Given the description of an element on the screen output the (x, y) to click on. 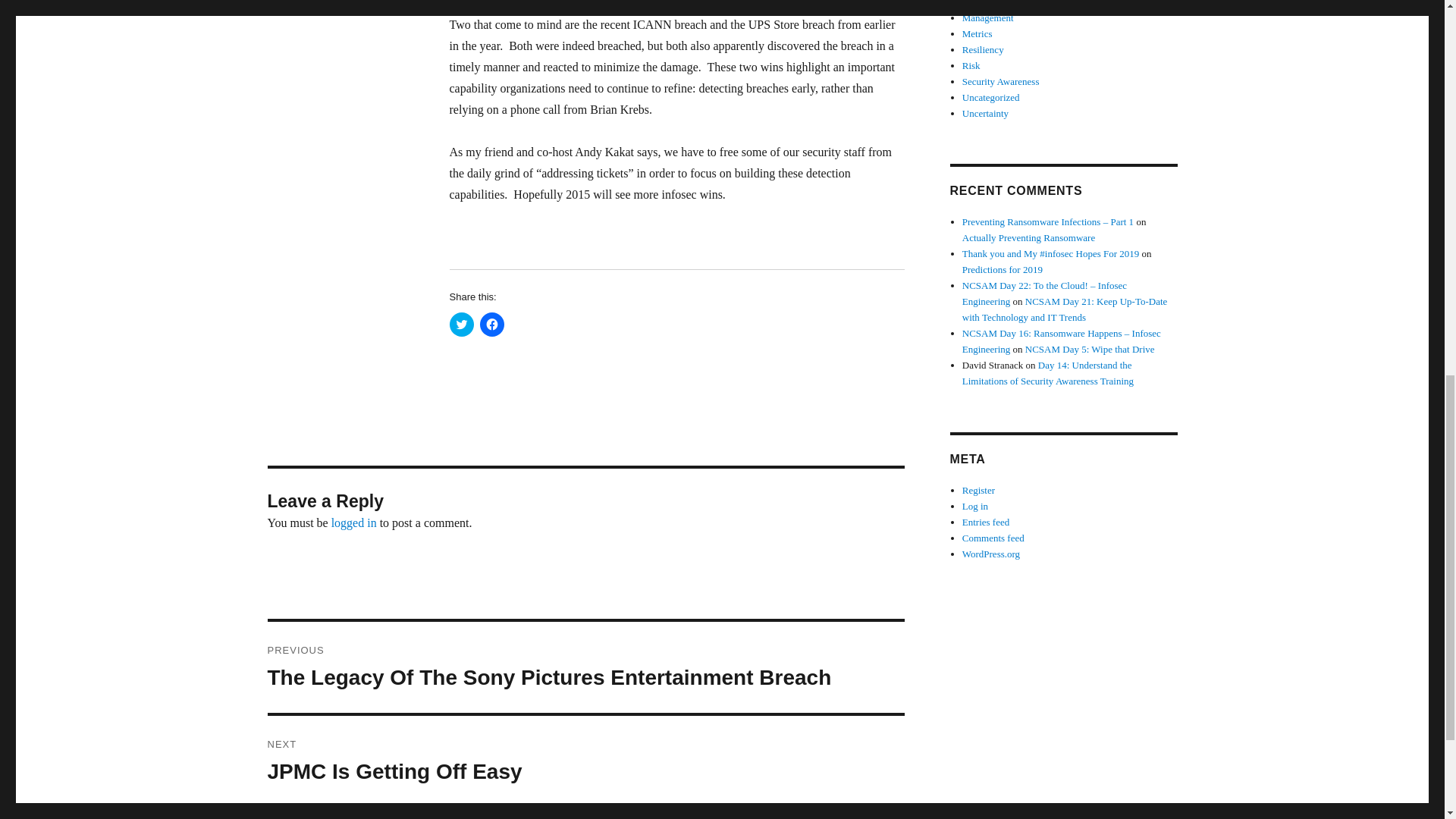
Actually Preventing Ransomware (1028, 237)
logged in (354, 522)
Uncategorized (991, 97)
Security Awareness (1000, 81)
NCSAM Day 21: Keep Up-To-Date with Technology and IT Trends (1064, 308)
Management (987, 17)
Click to share on Facebook (491, 324)
Click to share on Twitter (460, 324)
Resiliency (983, 49)
Predictions for 2019 (1002, 269)
